Given the description of an element on the screen output the (x, y) to click on. 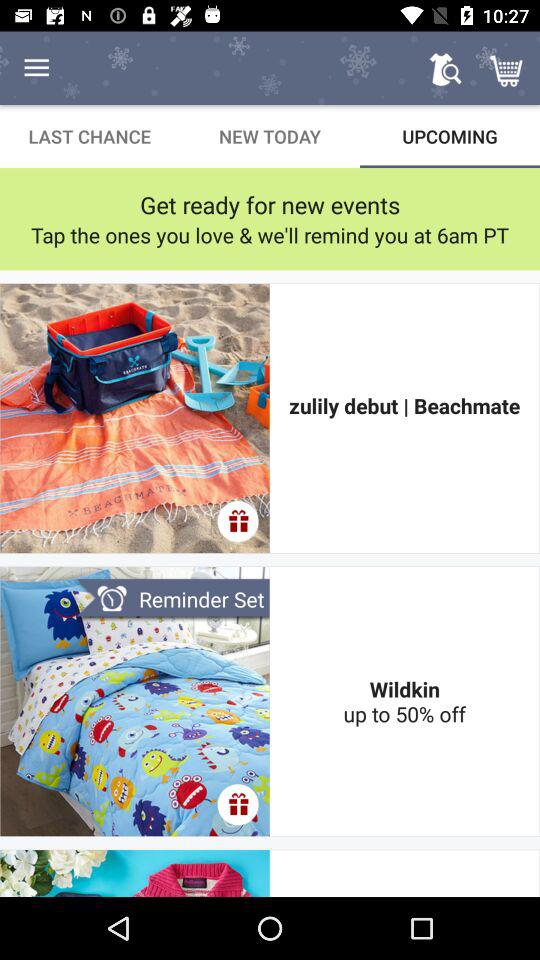
open the reminder set item (171, 599)
